Given the description of an element on the screen output the (x, y) to click on. 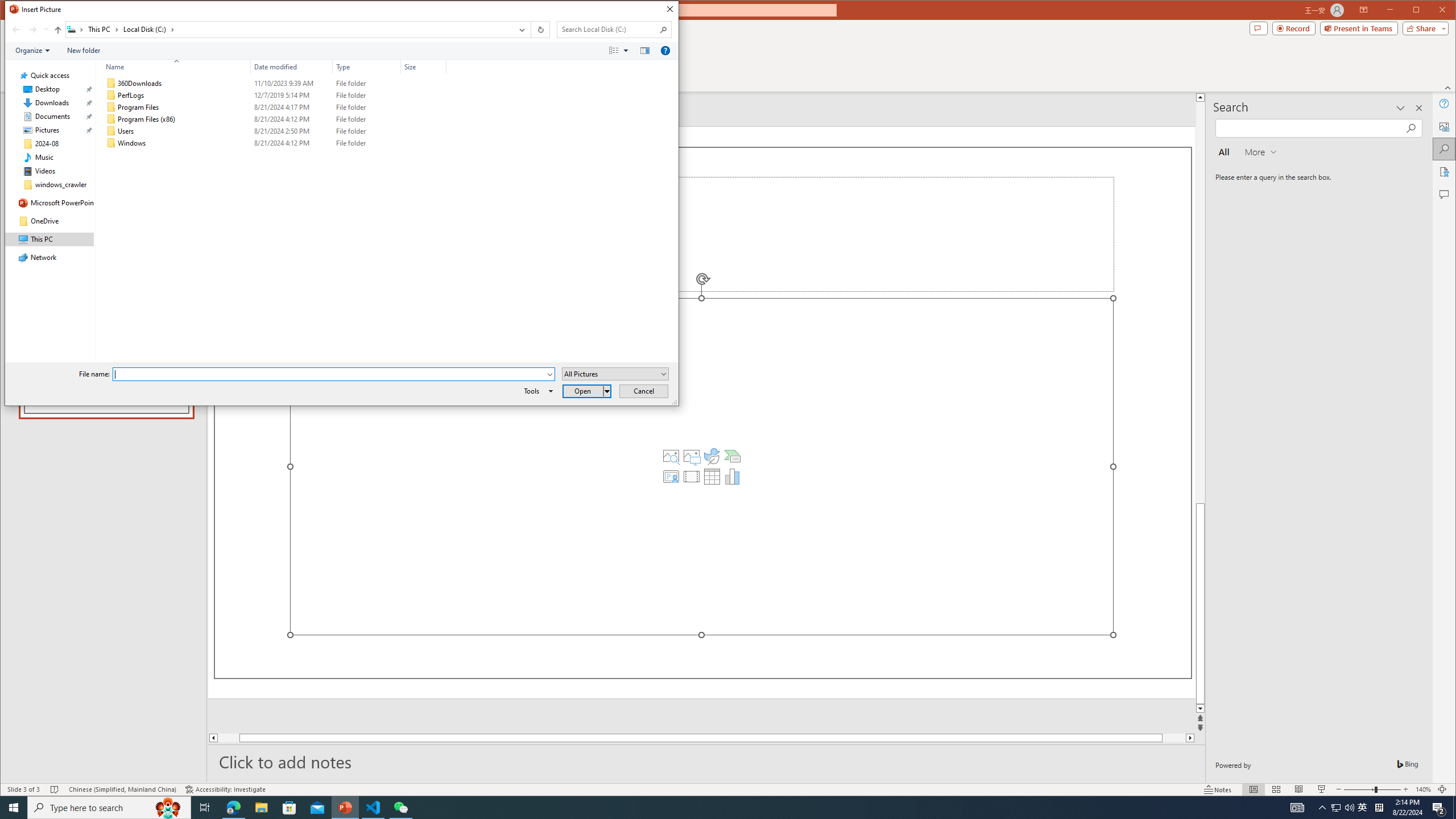
Views (621, 50)
Local Disk (C:) (148, 29)
Refresh "Local Disk (C:)" (F5) (538, 29)
Up band toolbar (57, 31)
Navigation buttons (28, 29)
